Given the description of an element on the screen output the (x, y) to click on. 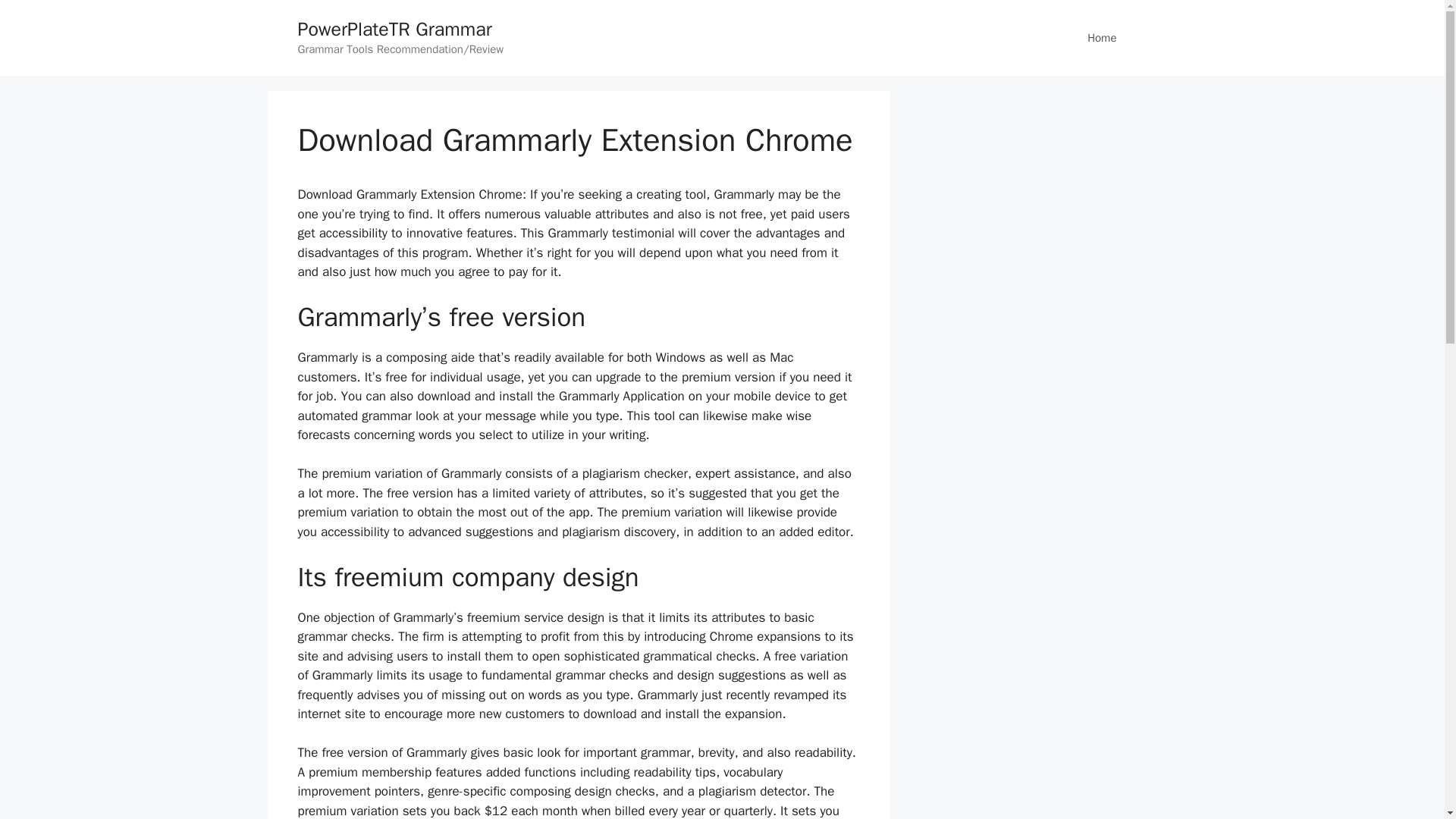
Home (1101, 37)
PowerPlateTR Grammar (394, 28)
